Given the description of an element on the screen output the (x, y) to click on. 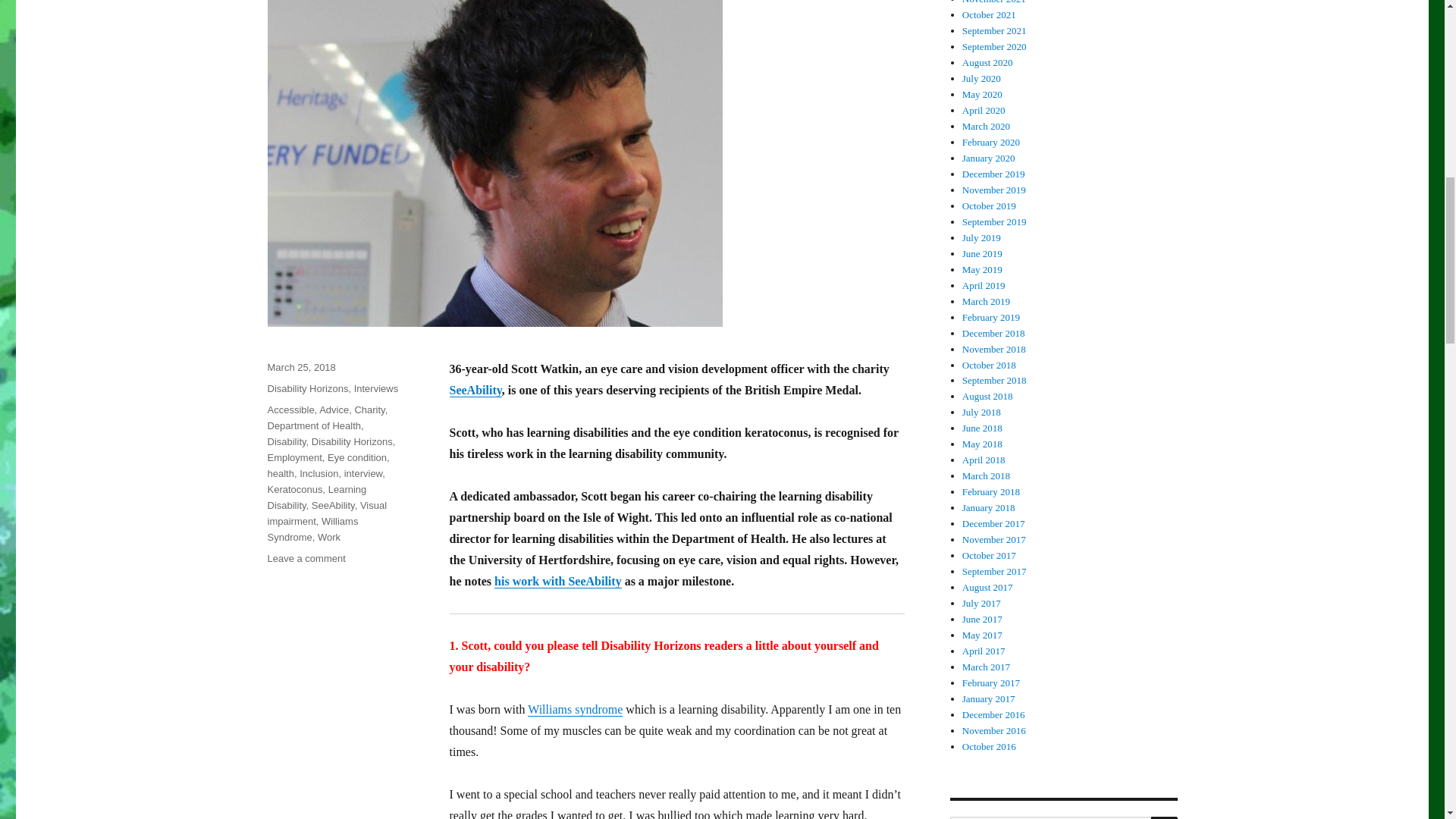
Inclusion (318, 473)
Interviews (375, 388)
Williams syndrome (575, 708)
Keratoconus (293, 489)
Advice (333, 409)
Learning Disability (316, 497)
March 25, 2018 (300, 367)
SeeAbility (474, 390)
Eye condition (357, 457)
Charity (368, 409)
Accessible (290, 409)
Department of Health (313, 425)
health (280, 473)
Disability Horizons (306, 388)
Employment (293, 457)
